Given the description of an element on the screen output the (x, y) to click on. 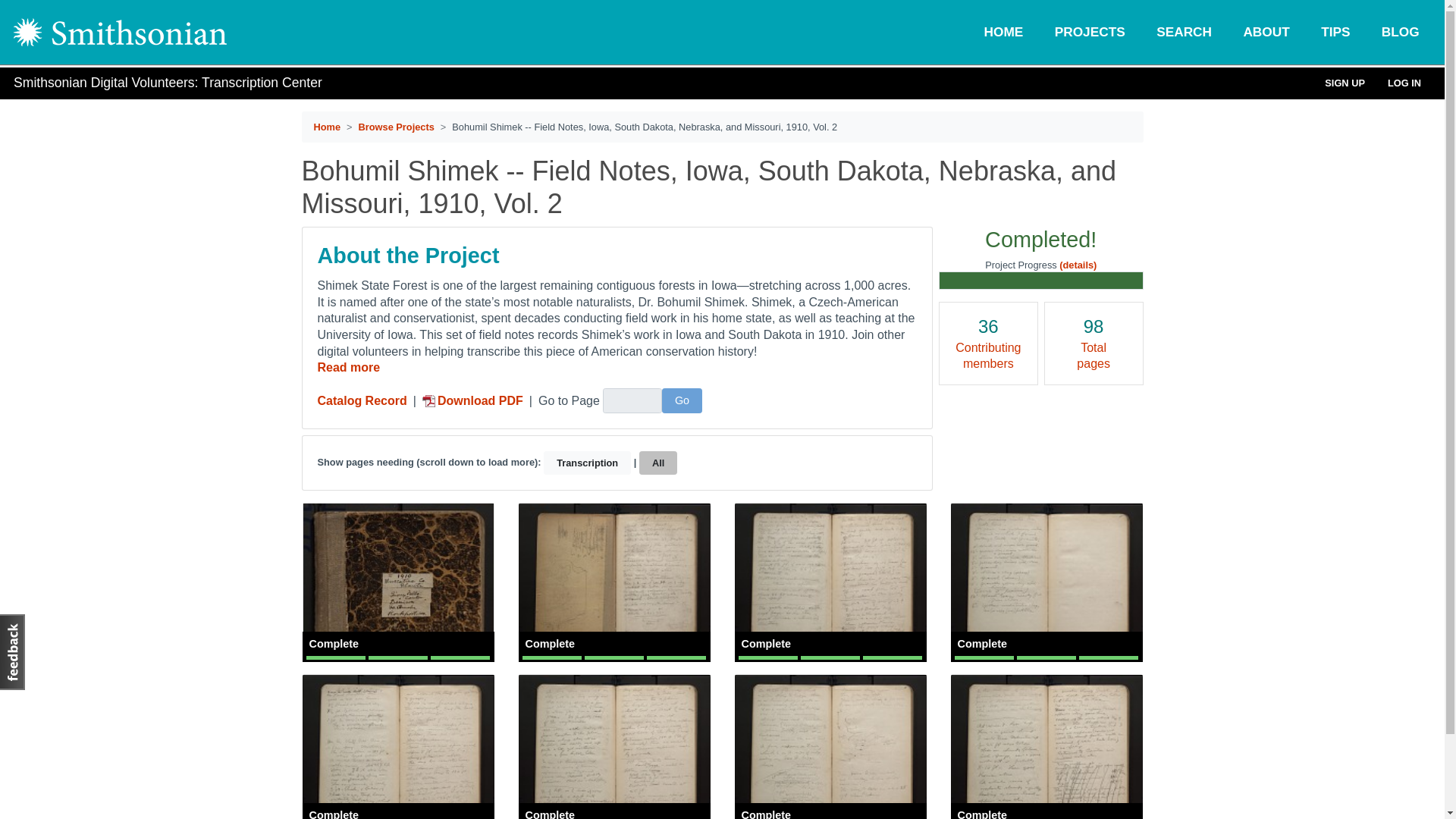
View SIA-SIA2017-002160 (398, 747)
Read more (348, 367)
View SIA-SIA2017-002157 (613, 582)
View SIA-SIA2017-002161 (613, 747)
Complete (1046, 582)
HOME (1002, 32)
View SIA-SIA2017-002162 (830, 747)
View SIA-SIA2017-002163 (1046, 747)
ABOUT (1265, 32)
Catalog Record (361, 401)
Transcription (586, 463)
Complete (1046, 747)
